Given the description of an element on the screen output the (x, y) to click on. 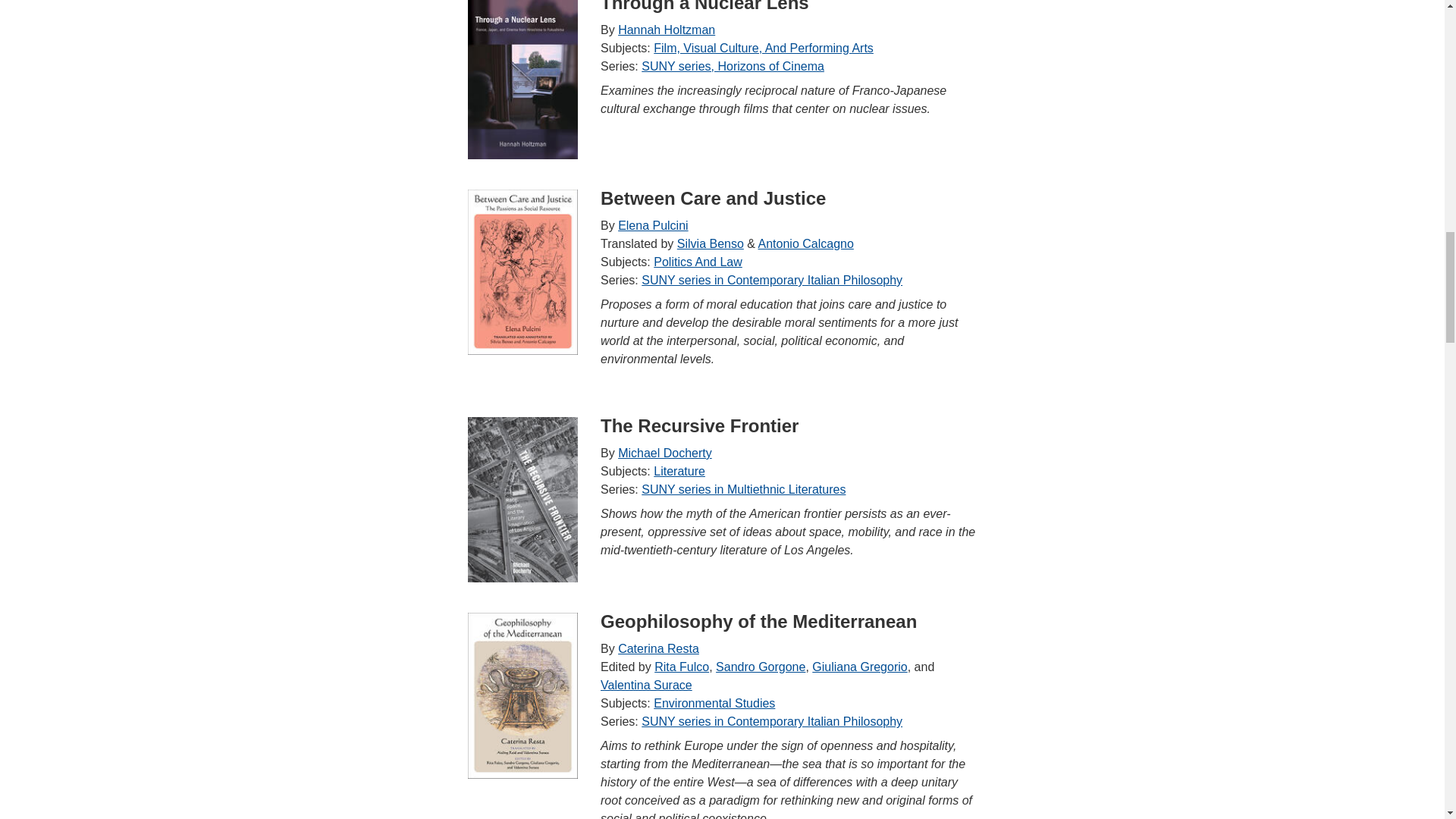
View Geophilosophy of the Mediterranean (522, 695)
View The Recursive Frontier (522, 499)
View Between Care and Justice (522, 271)
View Through a Nuclear Lens (522, 79)
